Given the description of an element on the screen output the (x, y) to click on. 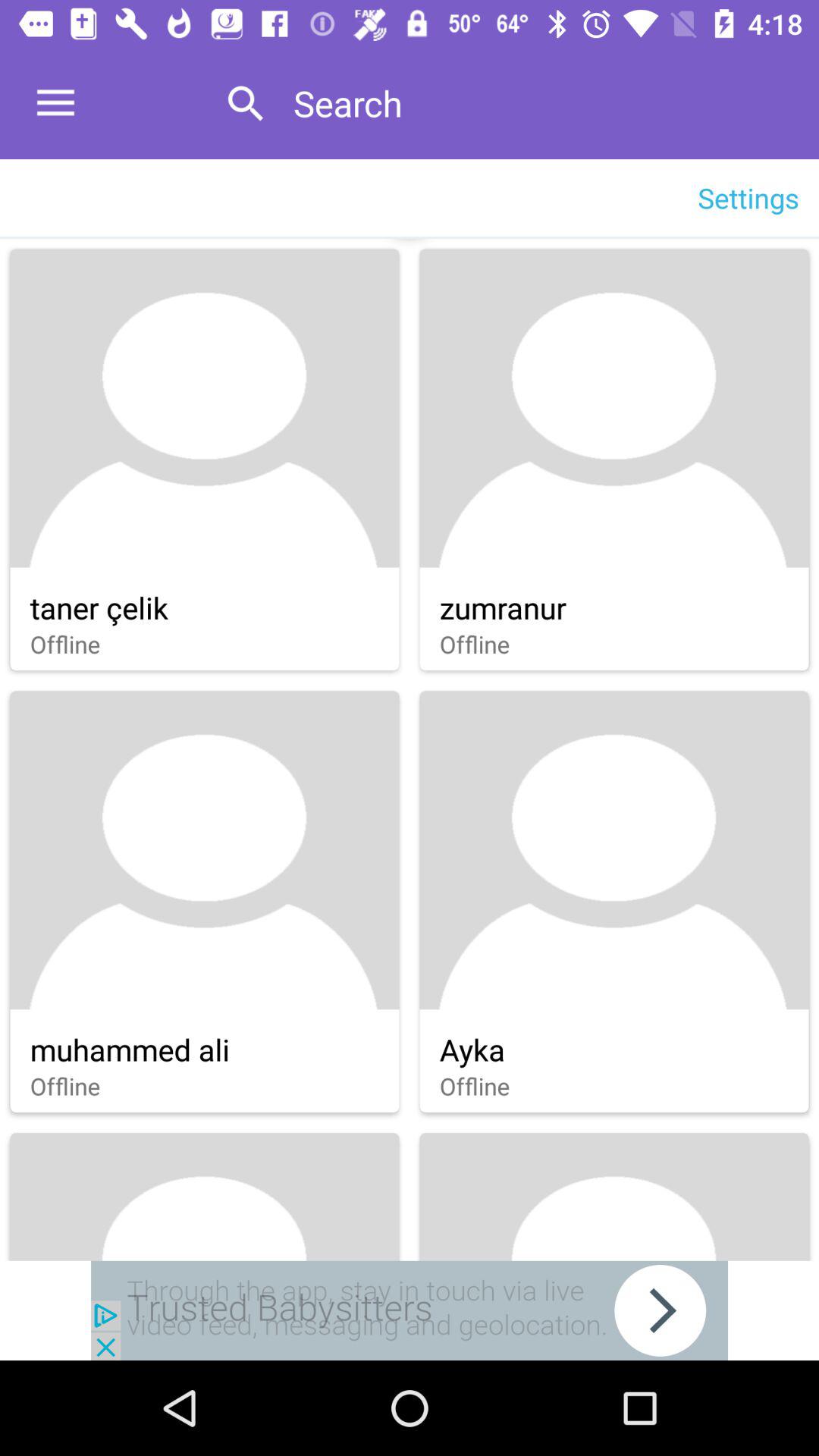
search bar (540, 103)
